Given the description of an element on the screen output the (x, y) to click on. 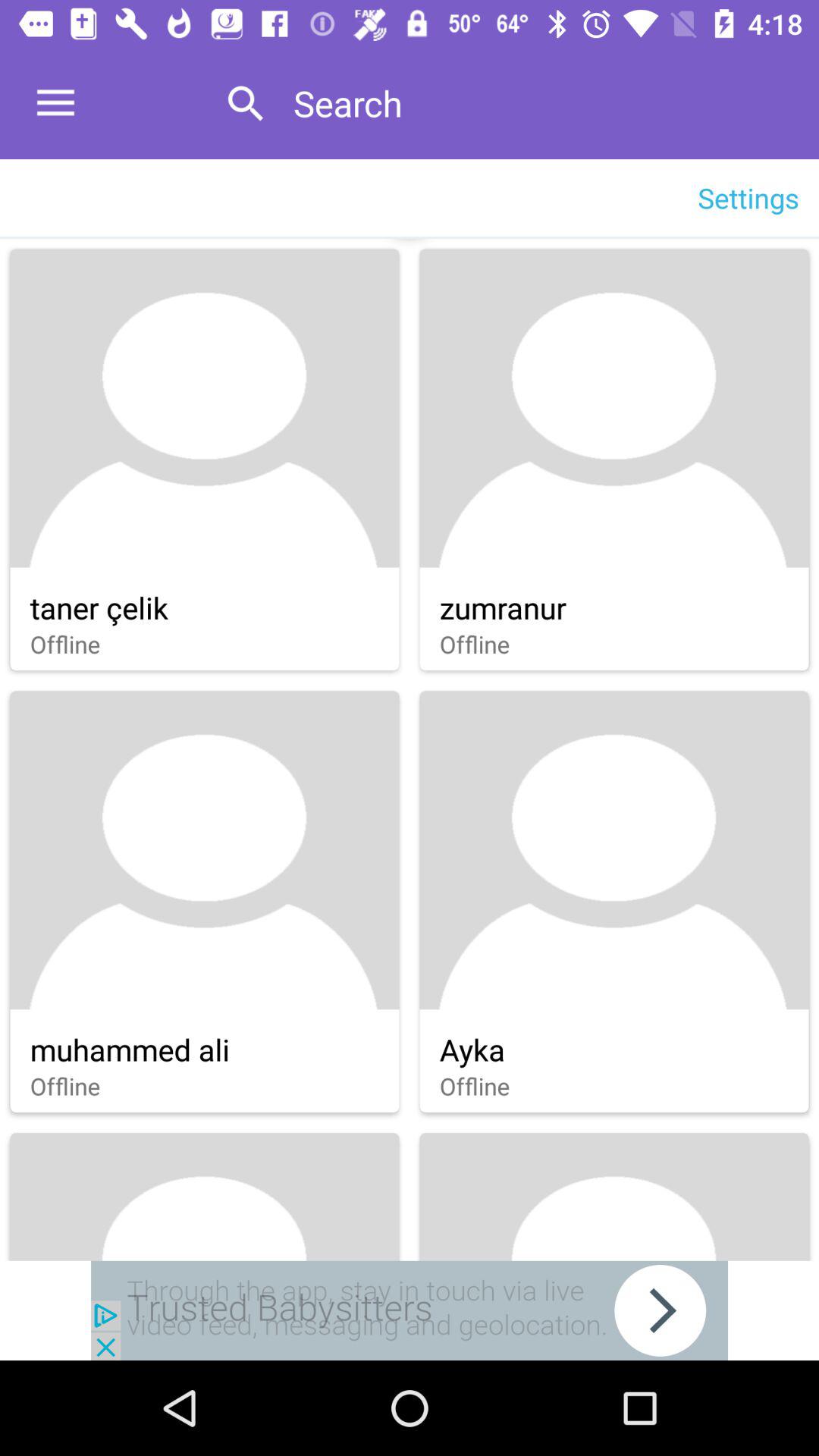
search bar (540, 103)
